Given the description of an element on the screen output the (x, y) to click on. 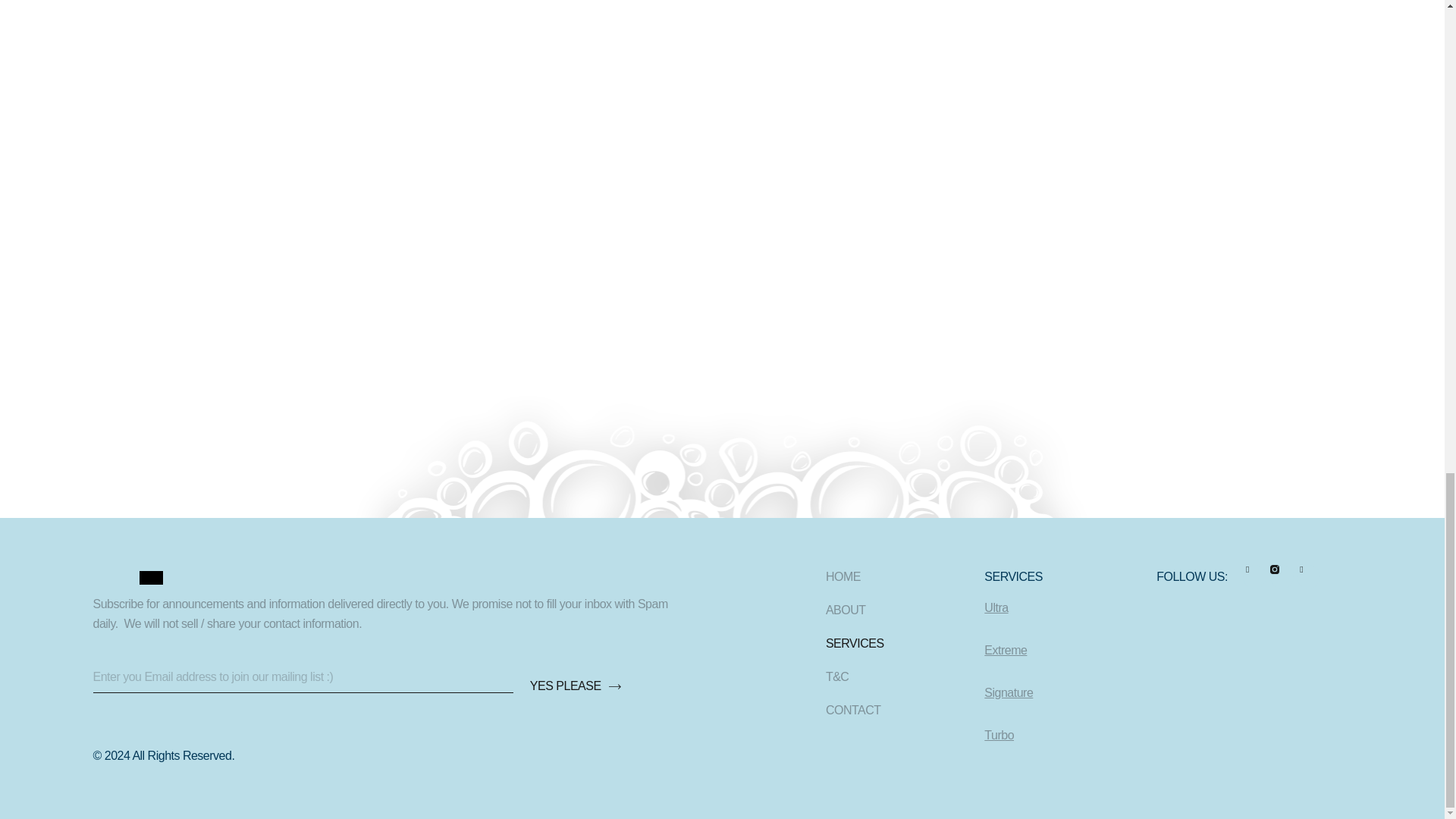
Facebook-f (1254, 576)
HOME (854, 576)
Twitter (1308, 576)
ABOUT (854, 610)
SERVICES (854, 644)
YES PLEASE (570, 677)
CONTACT (854, 710)
